Given the description of an element on the screen output the (x, y) to click on. 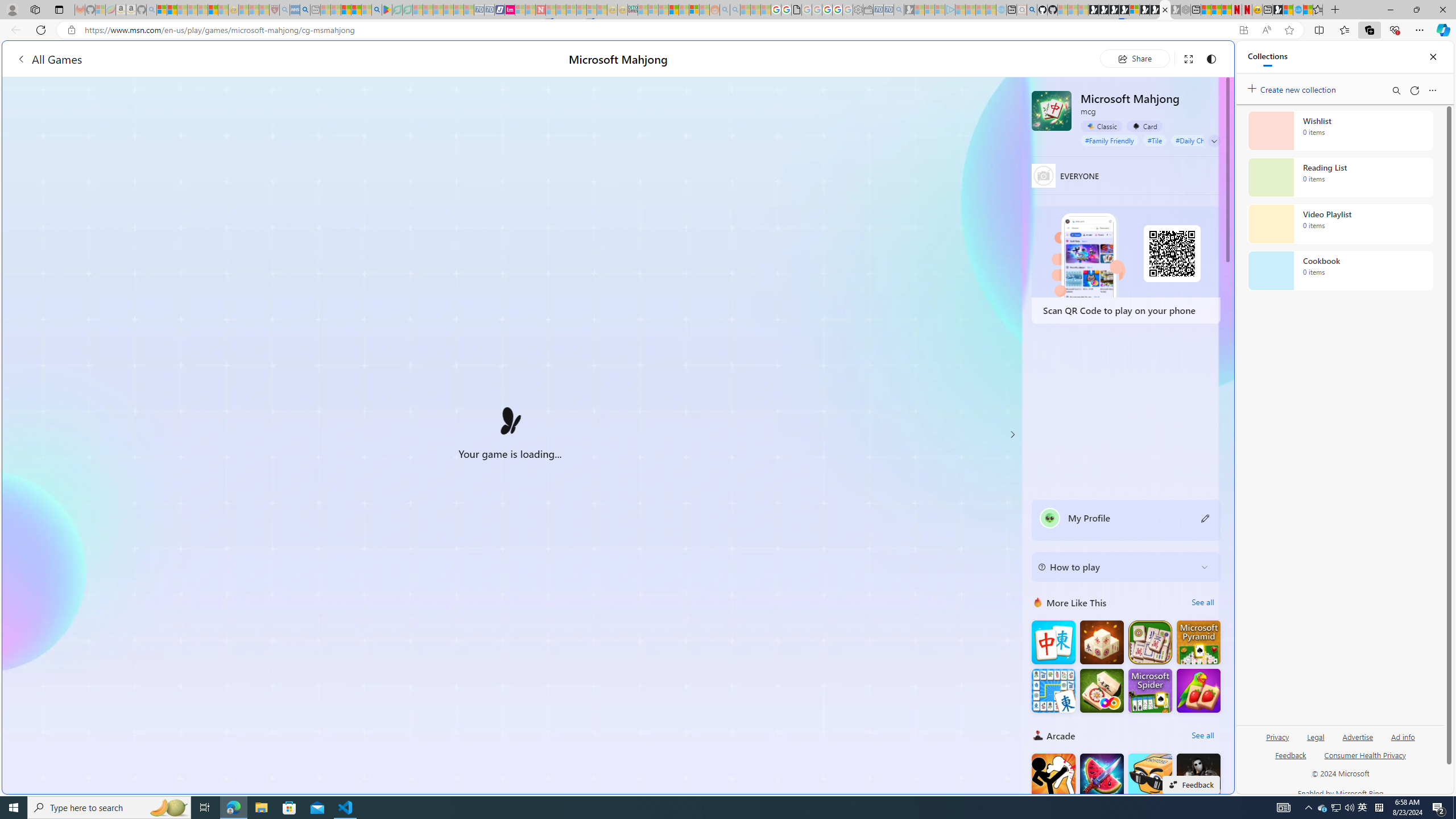
Services - Maintenance | Sky Blue Bikes - Sky Blue Bikes (1297, 9)
Classic (1101, 125)
#Daily Challenge (1200, 140)
